Given the description of an element on the screen output the (x, y) to click on. 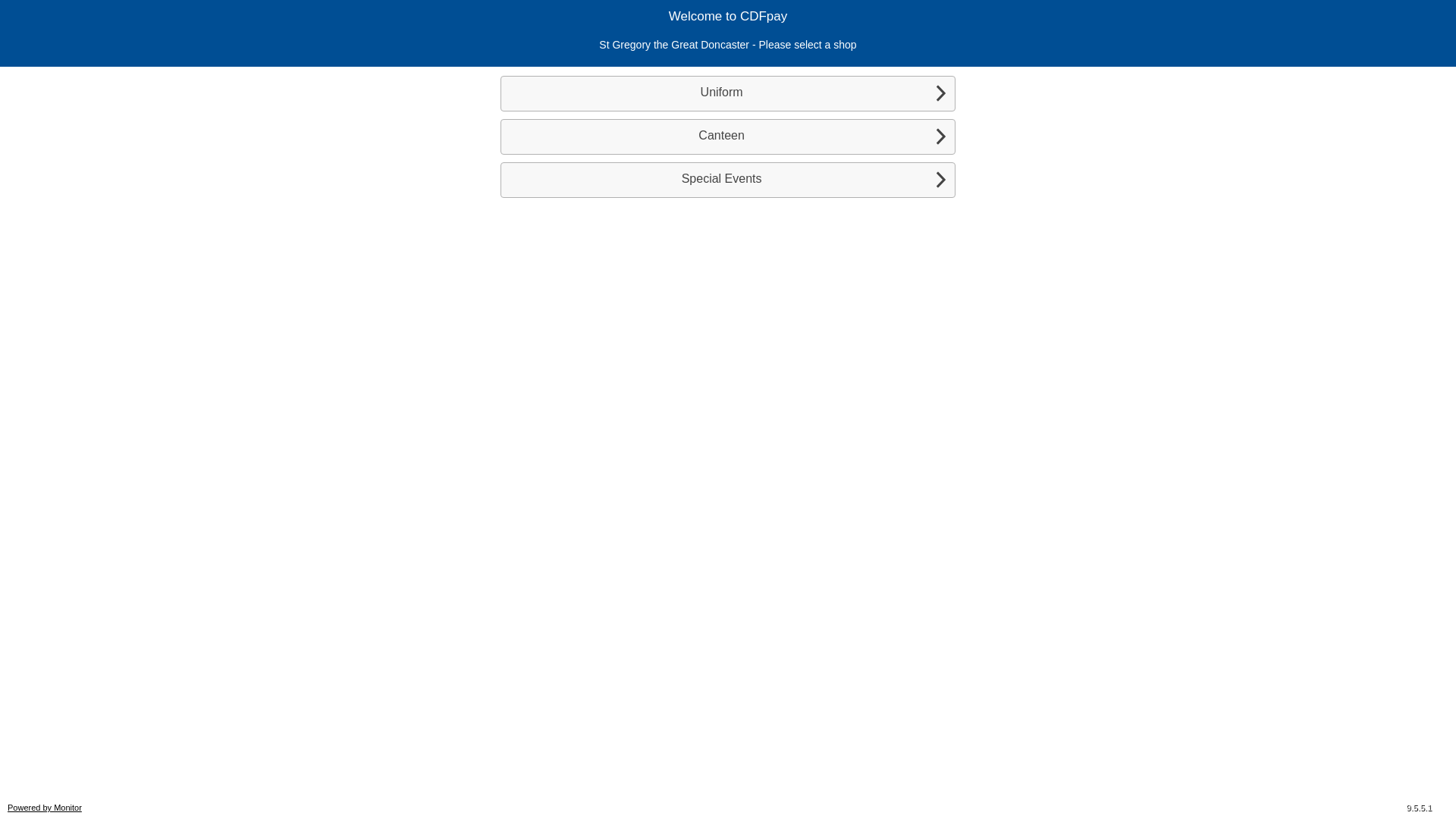
Powered by Monitor Element type: text (44, 807)
